Given the description of an element on the screen output the (x, y) to click on. 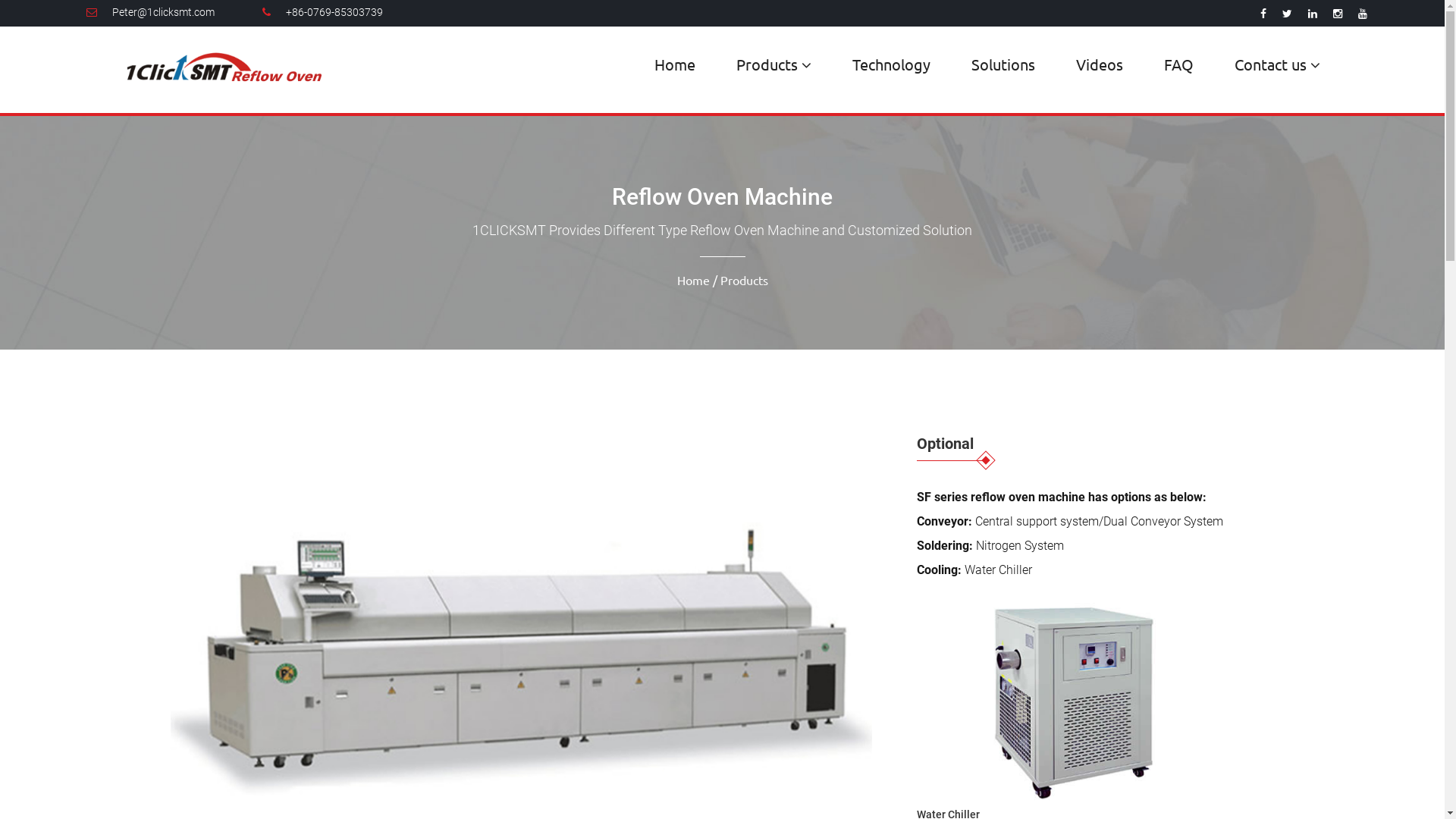
Home Element type: text (692, 279)
Twitter Element type: hover (1287, 13)
Contact us Element type: text (1277, 64)
Youtube Element type: hover (1362, 13)
Facebook Element type: hover (1263, 13)
Solutions Element type: text (1003, 64)
FAQ Element type: text (1178, 64)
Products Element type: text (773, 64)
Technology Element type: text (890, 64)
Home Element type: text (674, 64)
Instagram Element type: hover (1337, 13)
Videos Element type: text (1099, 64)
